Given the description of an element on the screen output the (x, y) to click on. 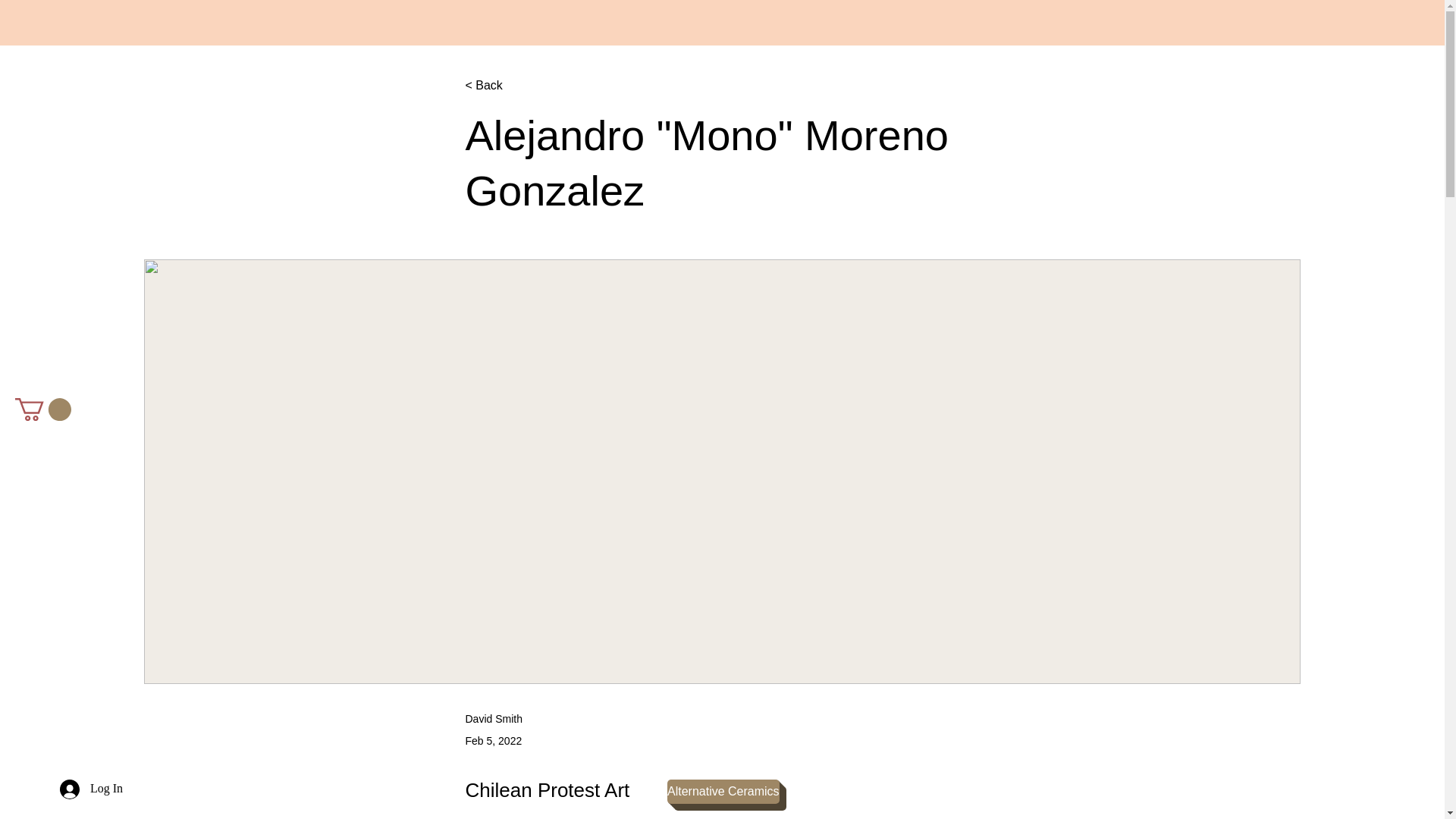
Alternative Ceramics (722, 791)
Log In (91, 788)
